Given the description of an element on the screen output the (x, y) to click on. 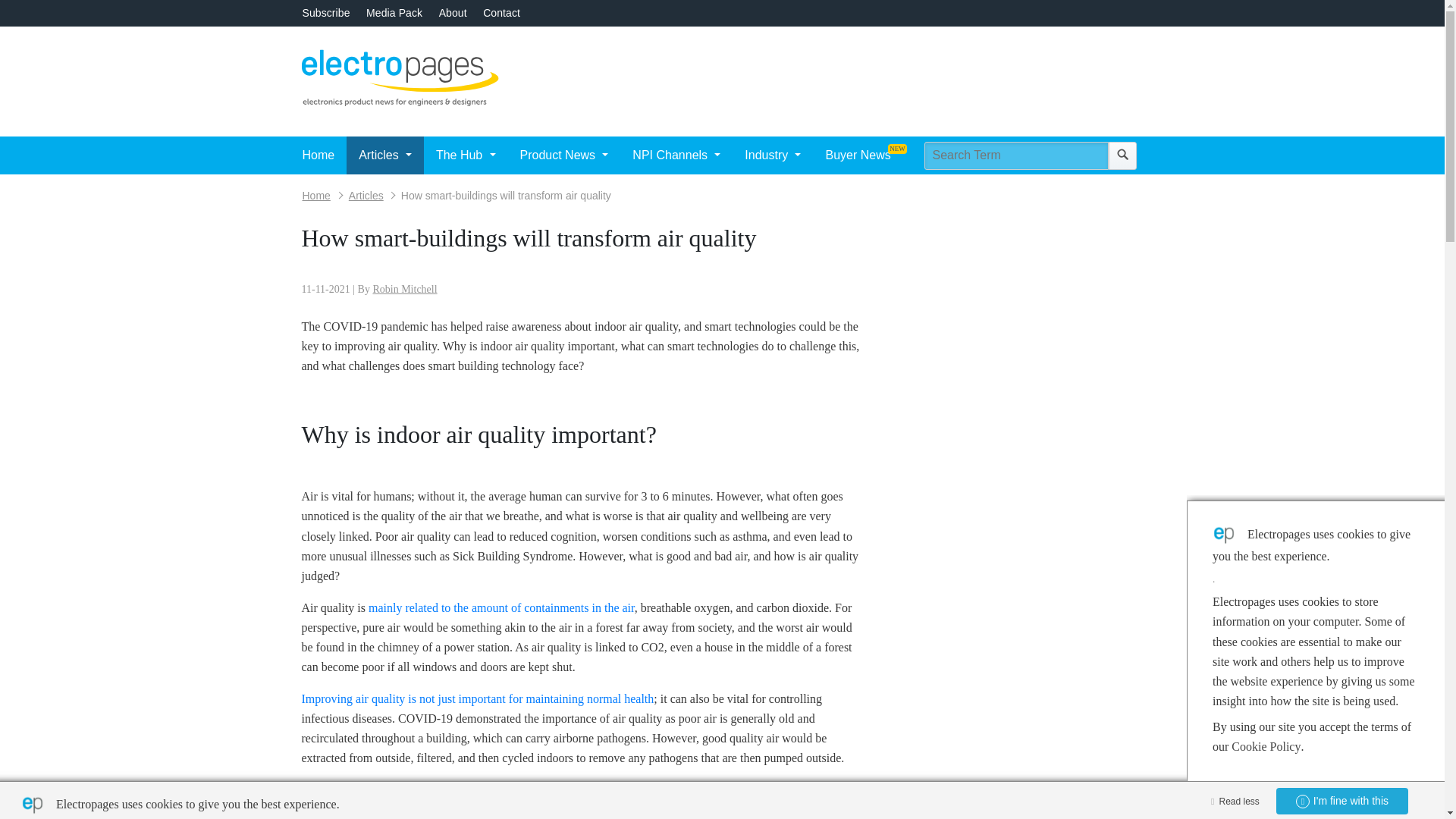
Cookie Policy (1265, 746)
Read less (1232, 799)
3rd party ad content (850, 76)
Media Pack (394, 12)
I'm fine with this (1341, 800)
Product News (564, 155)
Subscribe (325, 12)
Home (317, 155)
The Hub (465, 155)
About (453, 12)
Contact (501, 12)
Articles (384, 155)
